Given the description of an element on the screen output the (x, y) to click on. 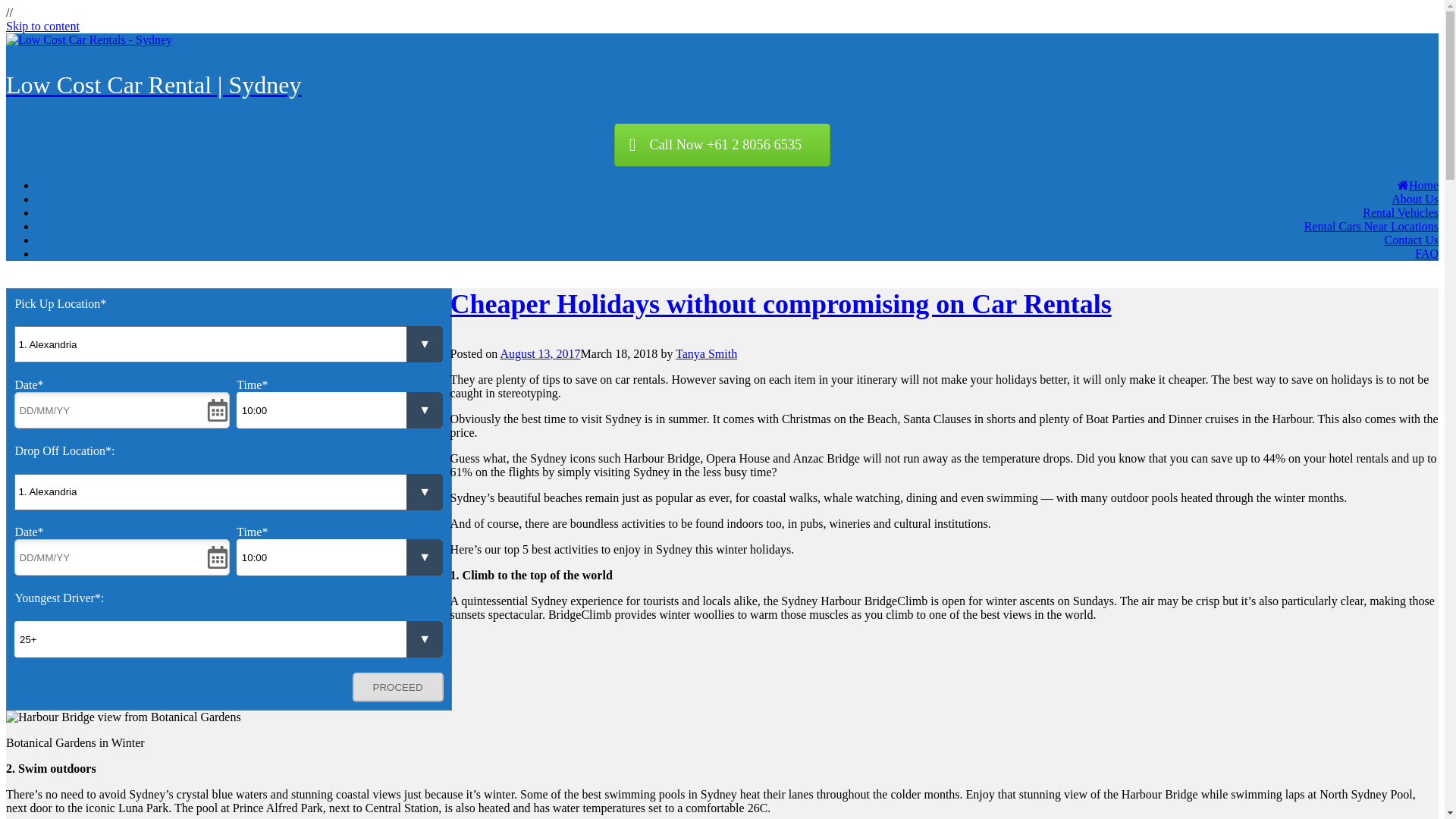
FAQ Element type: text (1426, 253)
Cheaper Holidays without compromising on Car Rentals Element type: text (780, 303)
Contact Us Element type: text (1410, 239)
Tanya Smith Element type: text (706, 353)
PROCEED Element type: text (397, 687)
Rental Cars Near Locations Element type: text (1371, 225)
Home Element type: text (1417, 184)
Call Now +61 2 8056 6535 Element type: text (722, 144)
About Us Element type: text (1414, 198)
August 13, 2017 Element type: text (539, 353)
Low Cost Car Rental | Sydney Element type: text (722, 66)
Skip to content Element type: text (42, 25)
Rental Vehicles Element type: text (1400, 212)
